Given the description of an element on the screen output the (x, y) to click on. 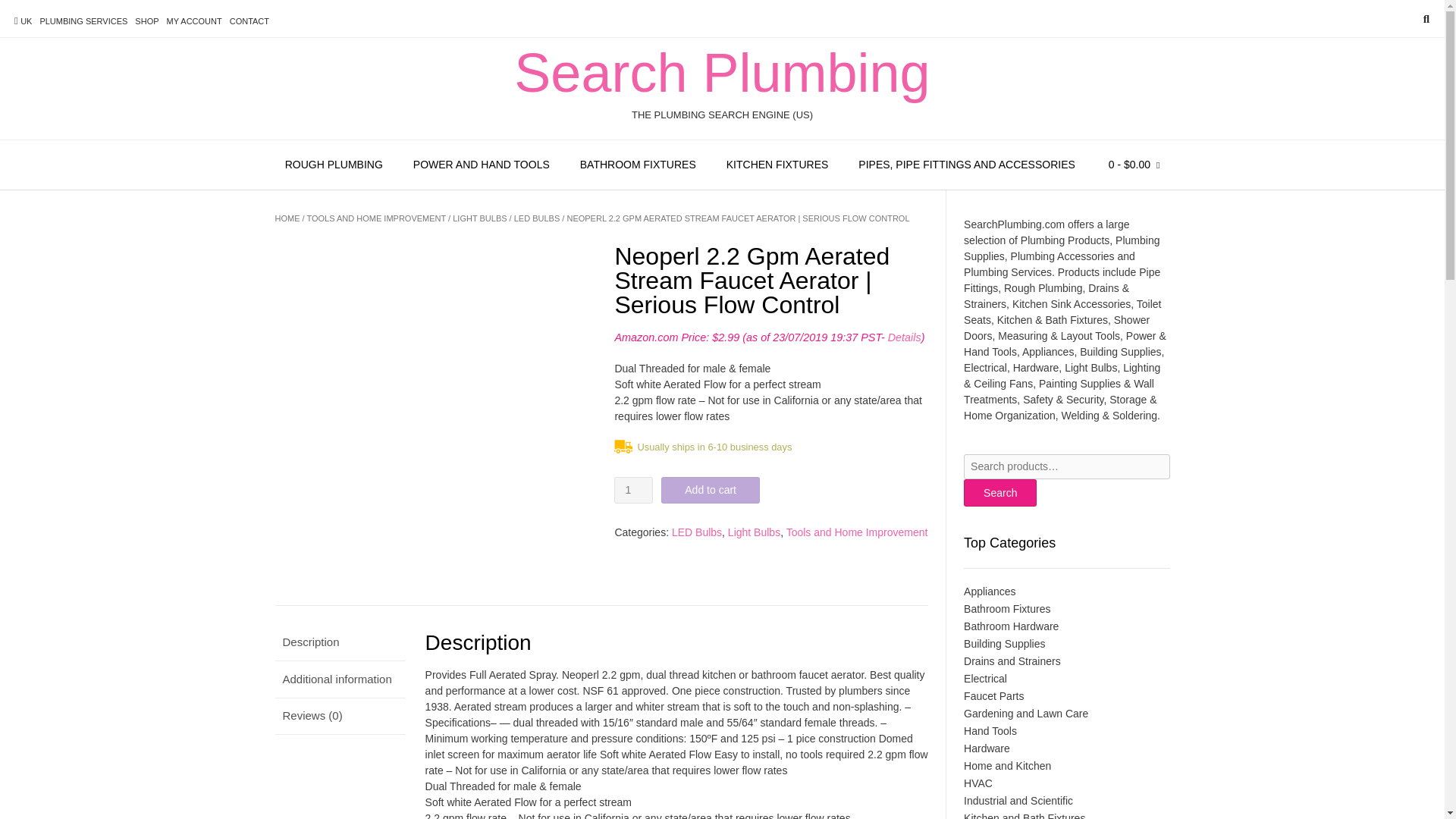
Search Plumbing (721, 72)
BATHROOM FIXTURES (637, 165)
LIGHT BULBS (479, 217)
MY ACCOUNT (194, 21)
Additional information (339, 679)
PLUMBING SERVICES (83, 21)
CONTACT (249, 21)
Light Bulbs (754, 532)
ROUGH PLUMBING (333, 165)
Details (904, 337)
POWER AND HAND TOOLS (480, 165)
Search Plumbing (721, 72)
SHOP (146, 21)
UK (22, 21)
LED Bulbs (696, 532)
